Given the description of an element on the screen output the (x, y) to click on. 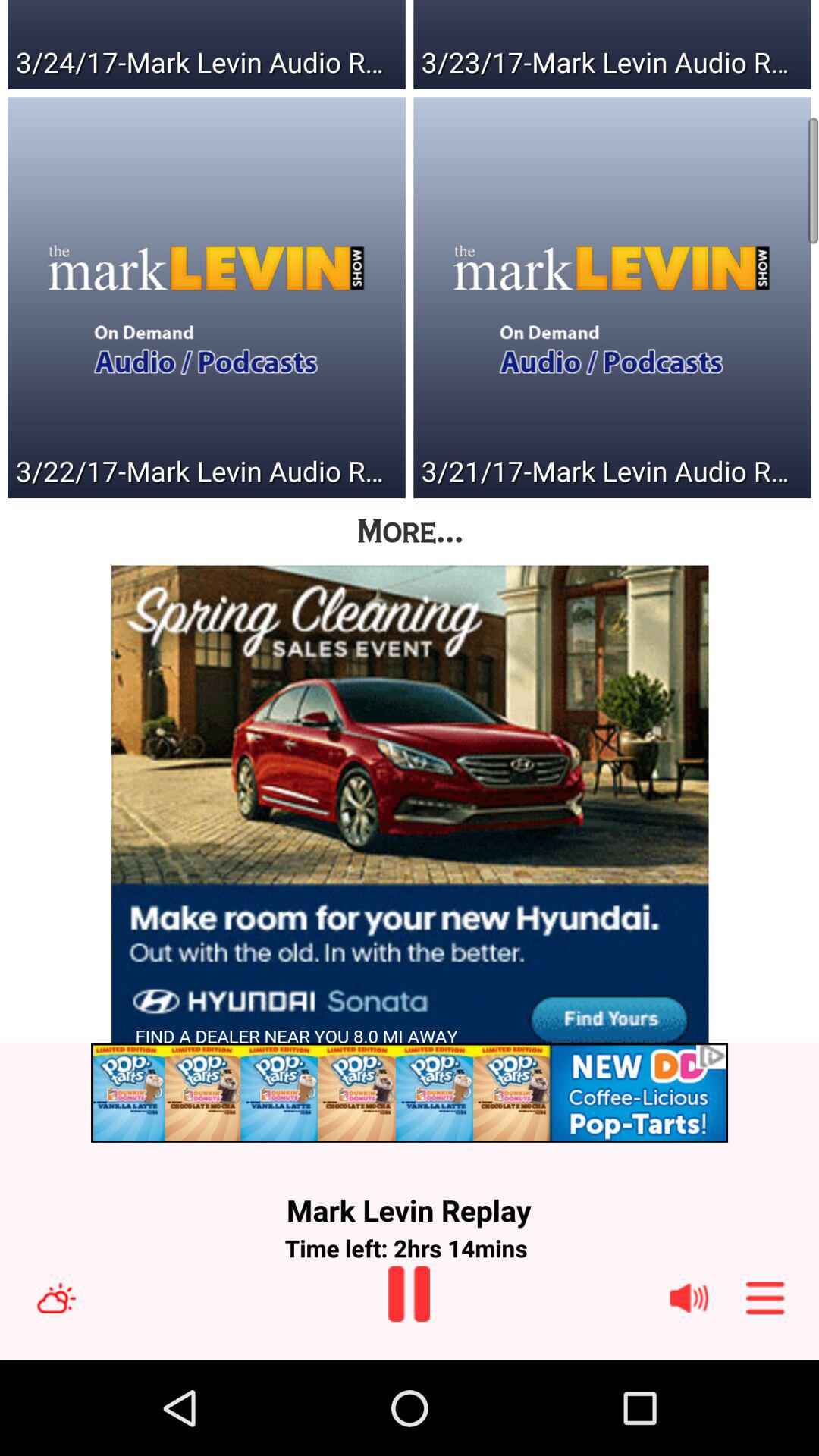
pause (408, 1294)
